Given the description of an element on the screen output the (x, y) to click on. 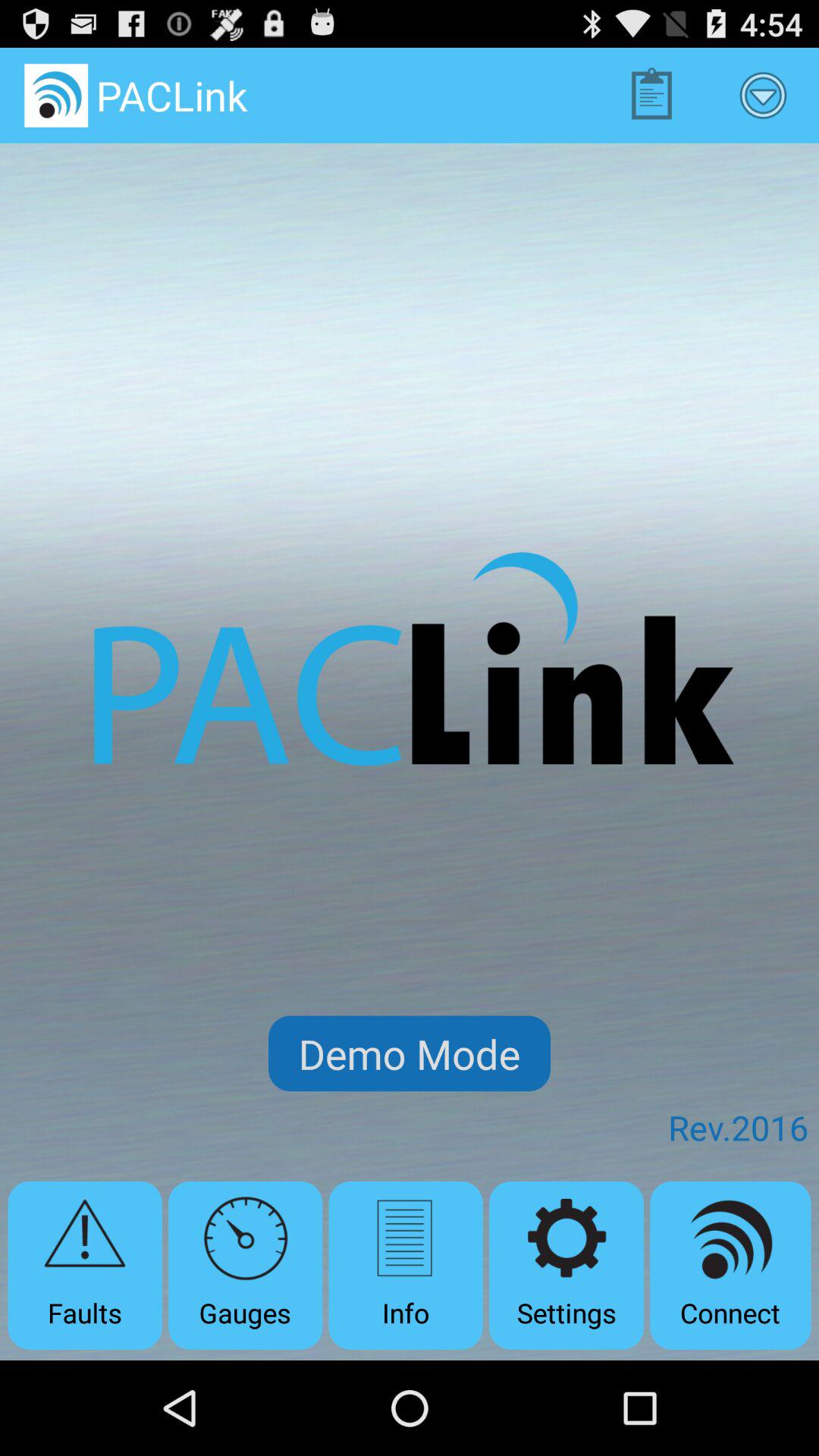
jump to the gauges (245, 1265)
